Given the description of an element on the screen output the (x, y) to click on. 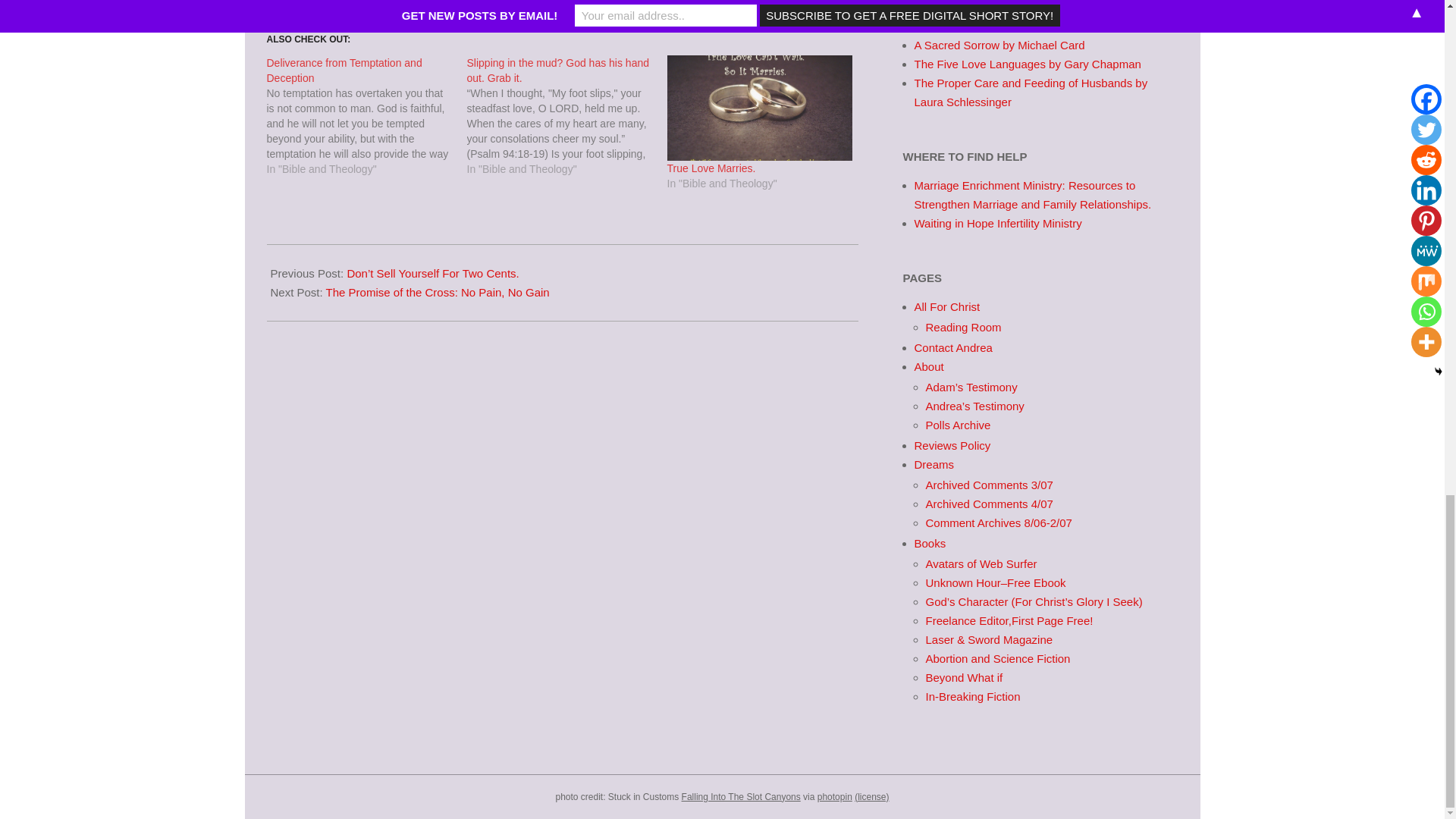
True Love Marries. (710, 168)
Slipping in the mud? God has his hand out. Grab it. (566, 115)
Deliverance from Temptation and Deception (344, 69)
Deliverance from Temptation and Deception (366, 115)
Deliverance from Temptation and Deception (344, 69)
Slipping in the mud? God has his hand out. Grab it. (558, 69)
